Given the description of an element on the screen output the (x, y) to click on. 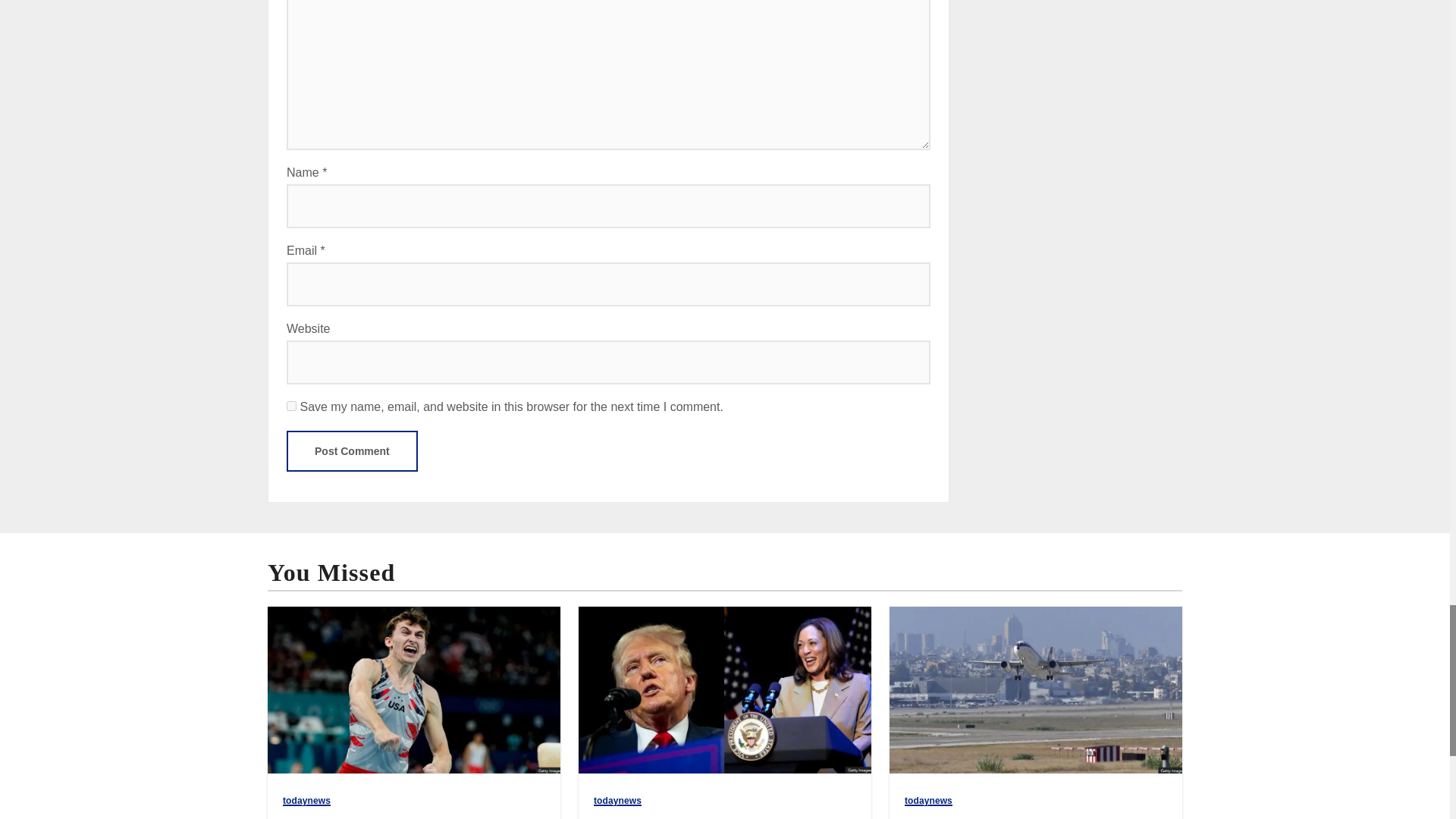
Post Comment (351, 450)
yes (291, 406)
